Given the description of an element on the screen output the (x, y) to click on. 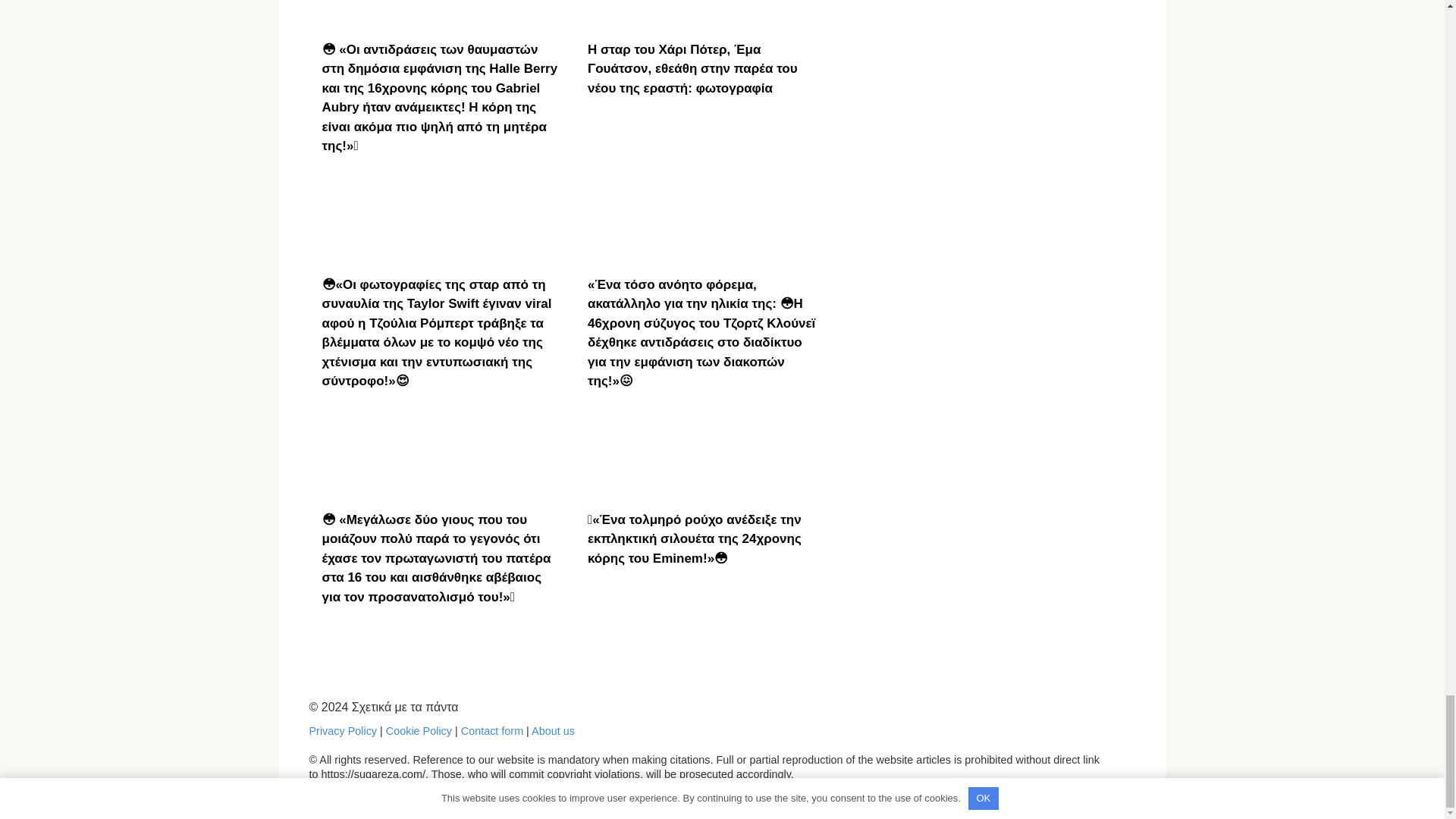
Contact form (491, 730)
Cookie Policy (418, 730)
Privacy Policy (342, 730)
About us (553, 730)
